Given the description of an element on the screen output the (x, y) to click on. 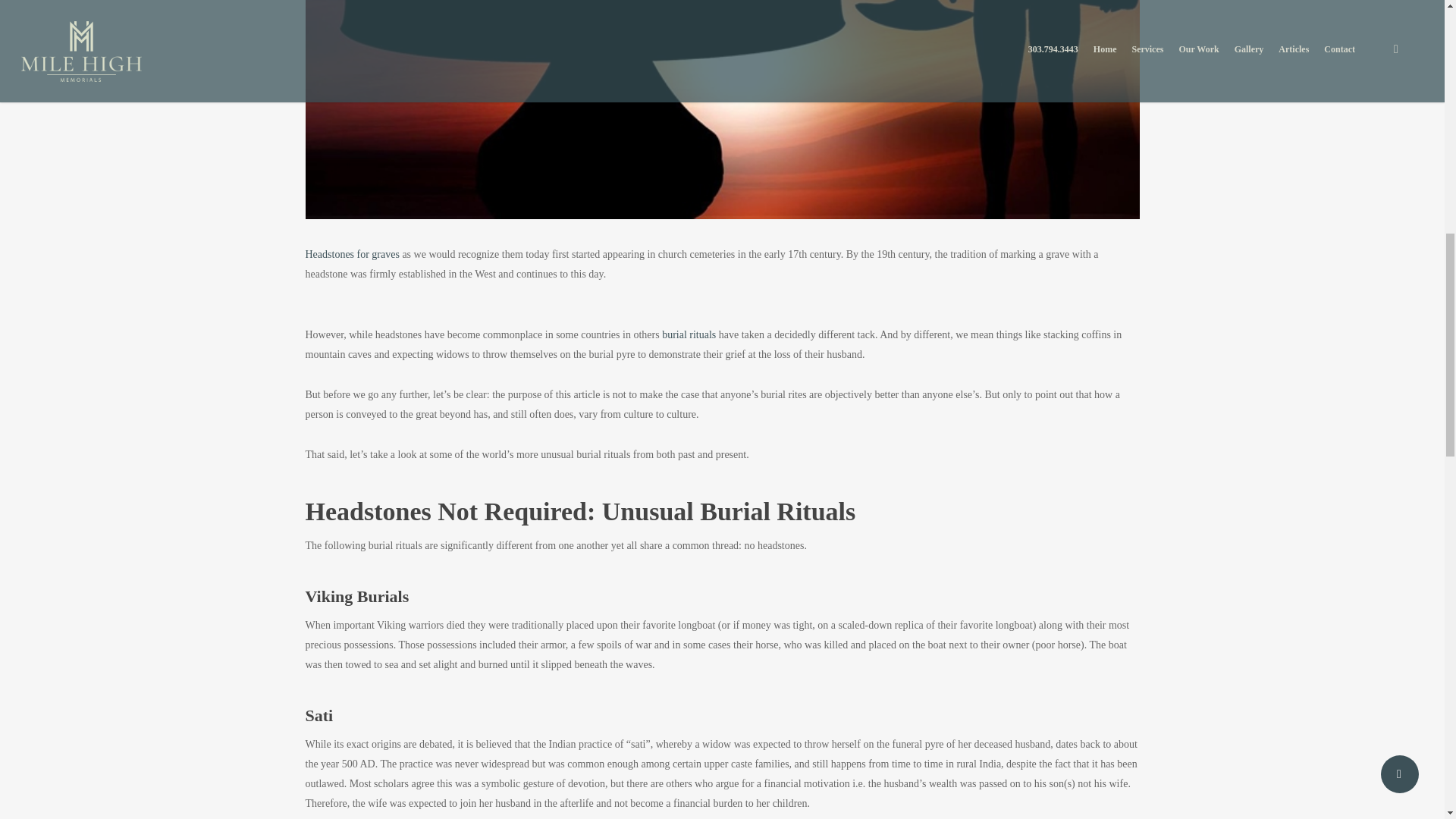
Mile High Memorials - Custom Headstone Design - Homepage (351, 254)
burial rituals (689, 334)
Headstones for graves (351, 254)
